Given the description of an element on the screen output the (x, y) to click on. 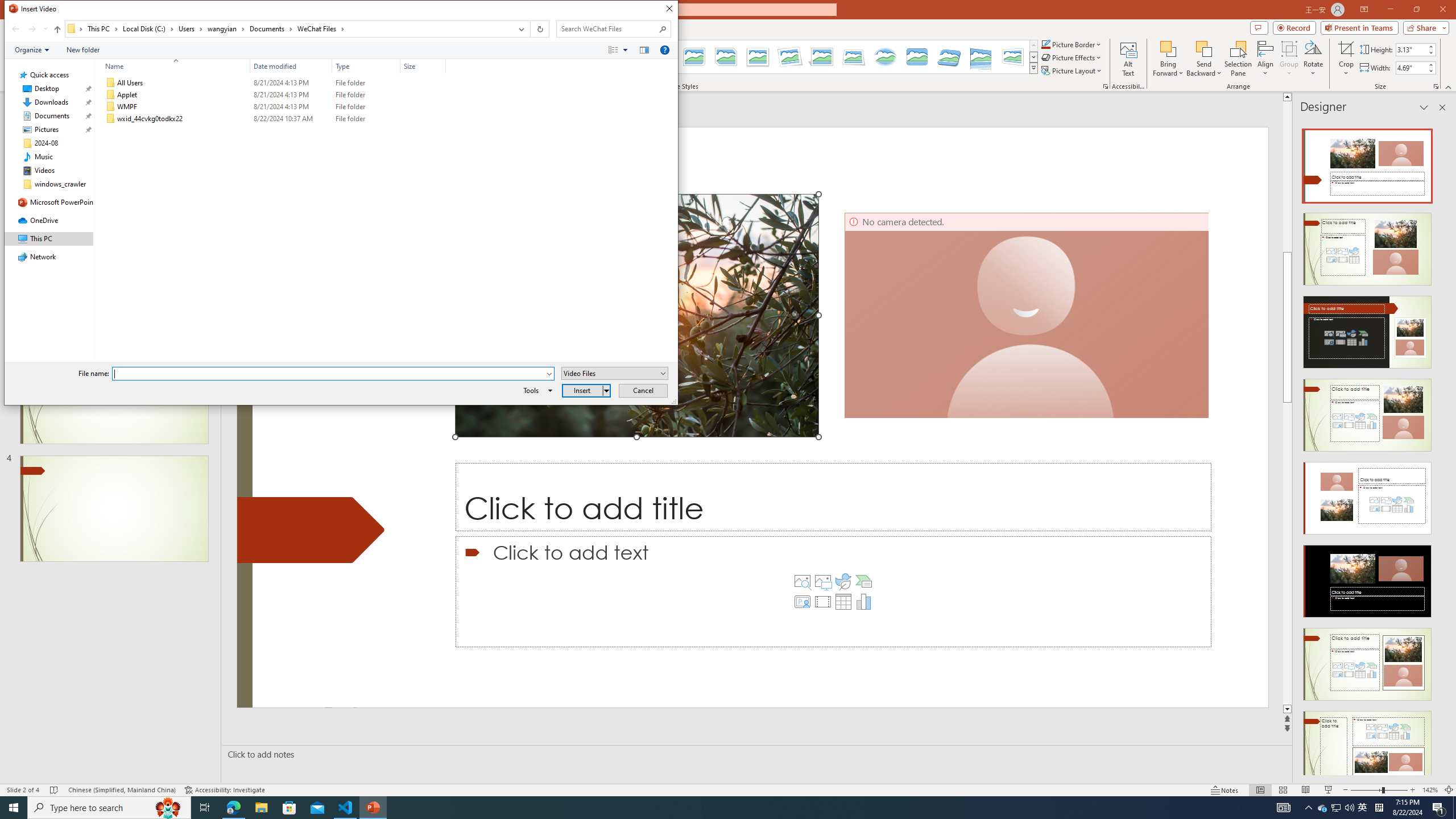
Previous Locations (520, 28)
Insert Video (822, 601)
All Users (1322, 807)
Cancel (273, 82)
Type (643, 390)
